Given the description of an element on the screen output the (x, y) to click on. 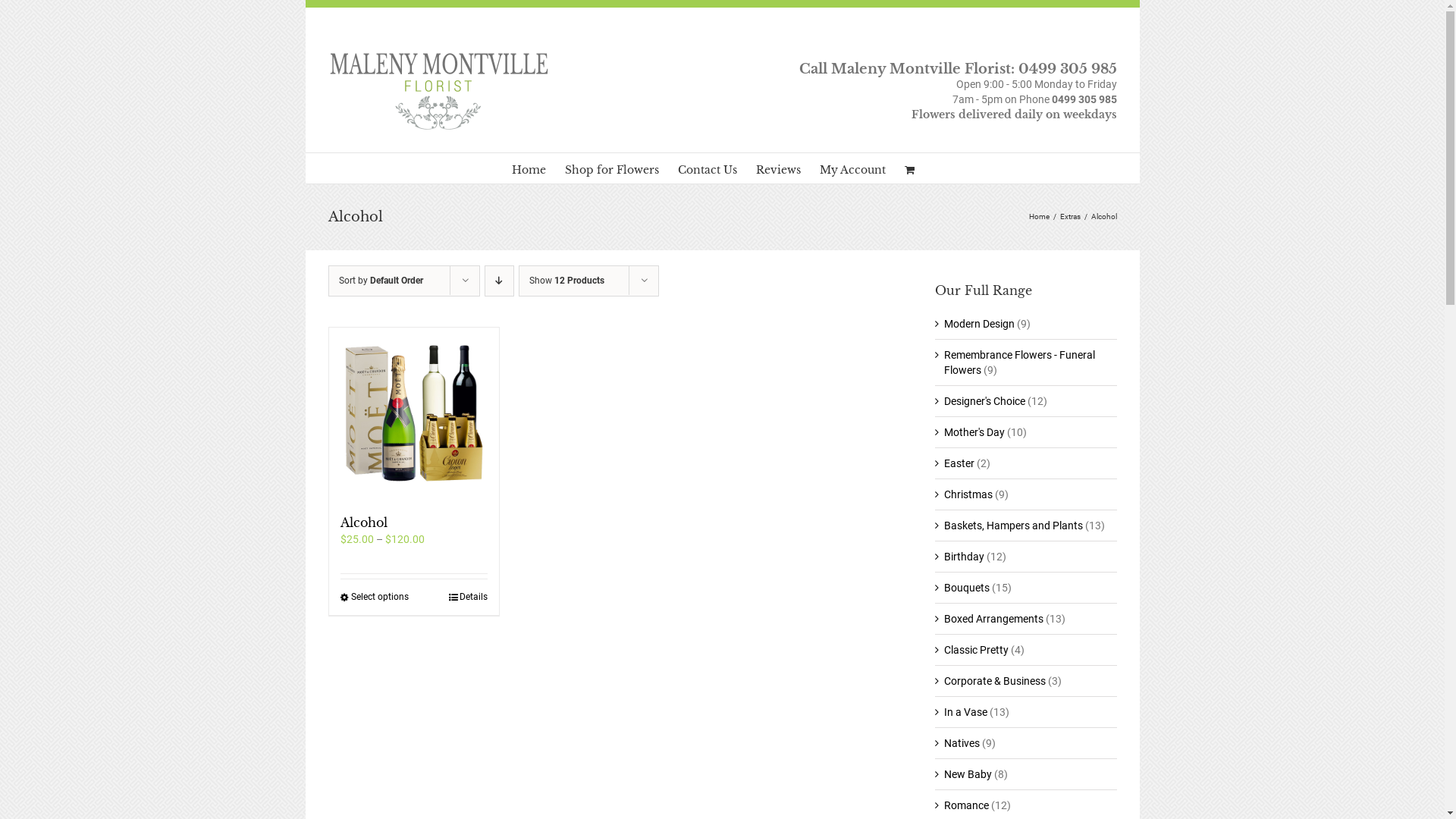
Natives Element type: text (961, 743)
Home Element type: text (528, 168)
Reviews Element type: text (777, 168)
Designer's Choice Element type: text (984, 401)
Show 12 Products Element type: text (566, 280)
Sort by Default Order Element type: text (380, 280)
Contact Us Element type: text (707, 168)
Baskets, Hampers and Plants Element type: text (1013, 525)
My Account Element type: text (851, 168)
Romance Element type: text (966, 805)
Boxed Arrangements Element type: text (993, 618)
Select options Element type: text (373, 596)
Modern Design Element type: text (979, 323)
Mother's Day Element type: text (974, 432)
In a Vase Element type: text (965, 712)
Easter Element type: text (959, 463)
Christmas Element type: text (968, 494)
Remembrance Flowers - Funeral Flowers Element type: text (1019, 362)
Shop for Flowers Element type: text (611, 168)
Log In Element type: text (914, 294)
Extras Element type: text (1070, 216)
Birthday Element type: text (964, 556)
Details Element type: text (467, 596)
New Baby Element type: text (967, 774)
Home Element type: text (1038, 216)
Alcohol Element type: text (362, 522)
Classic Pretty Element type: text (976, 649)
Bouquets Element type: text (966, 587)
Corporate & Business Element type: text (994, 680)
